Given the description of an element on the screen output the (x, y) to click on. 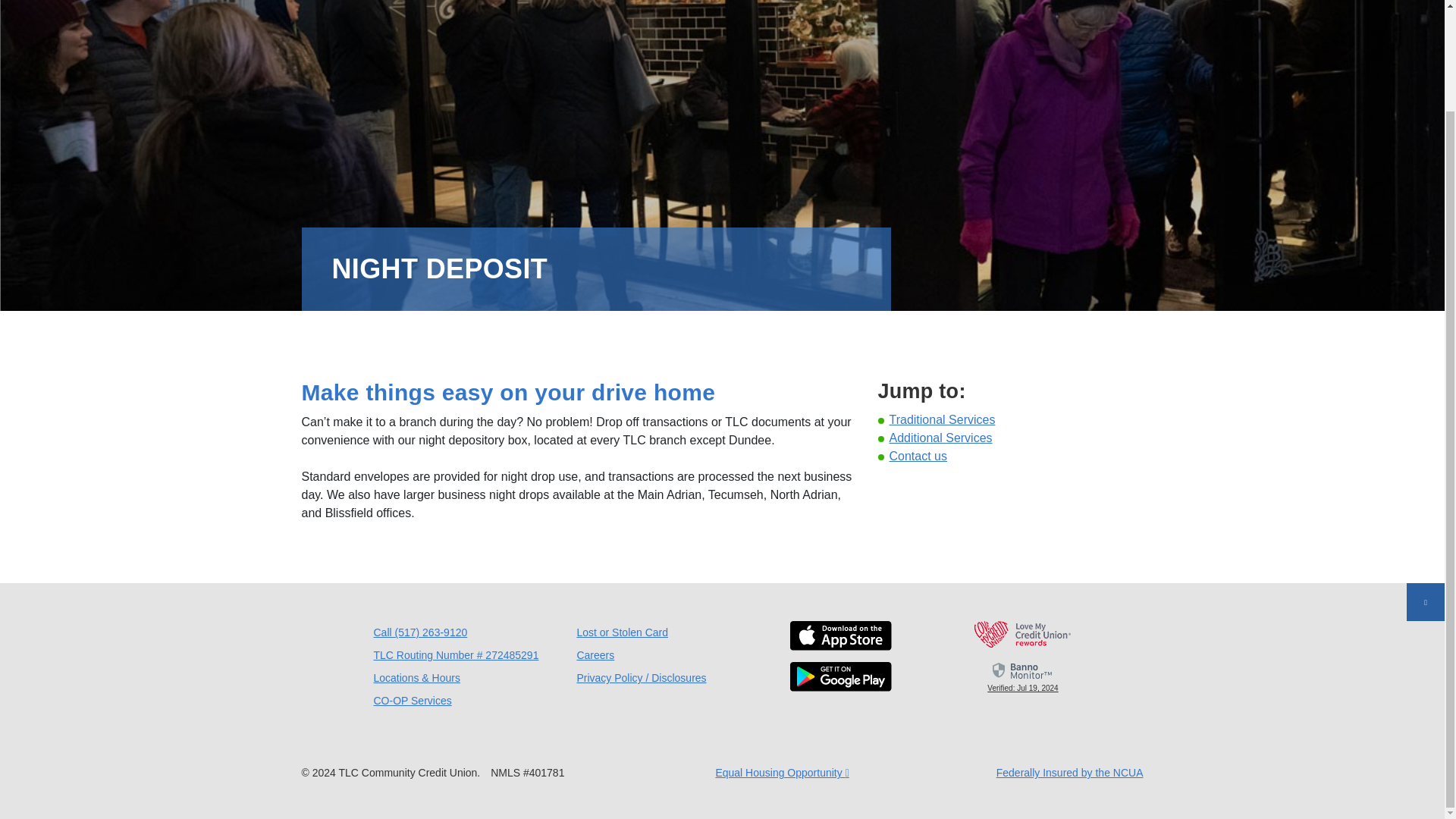
Scanned by Banno Monitor (1023, 670)
Monitor Scan Details (1022, 676)
